Given the description of an element on the screen output the (x, y) to click on. 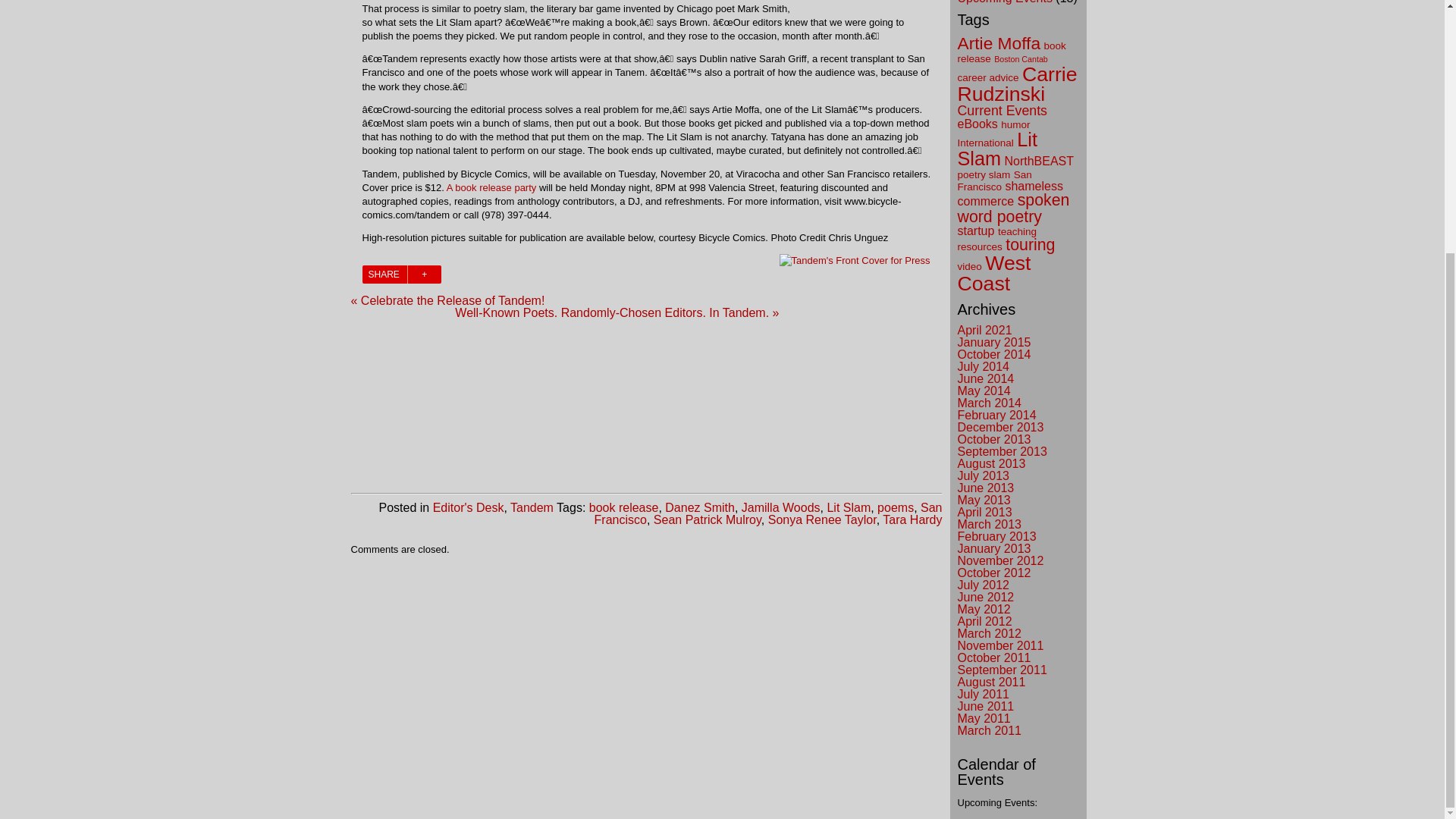
Celebrate the Release of Tandem! (491, 187)
Artie Moffa (998, 43)
A book release party (491, 187)
Danez Smith (700, 507)
San Francisco (768, 513)
Tandem (532, 507)
Lit Slam (848, 507)
Sonya Renee Taylor (822, 519)
Tara Hardy (912, 519)
poems (895, 507)
career advice (986, 77)
Editor's Desk (467, 507)
Jamilla Woods (781, 507)
Upcoming Events (1003, 2)
book release (1010, 52)
